Given the description of an element on the screen output the (x, y) to click on. 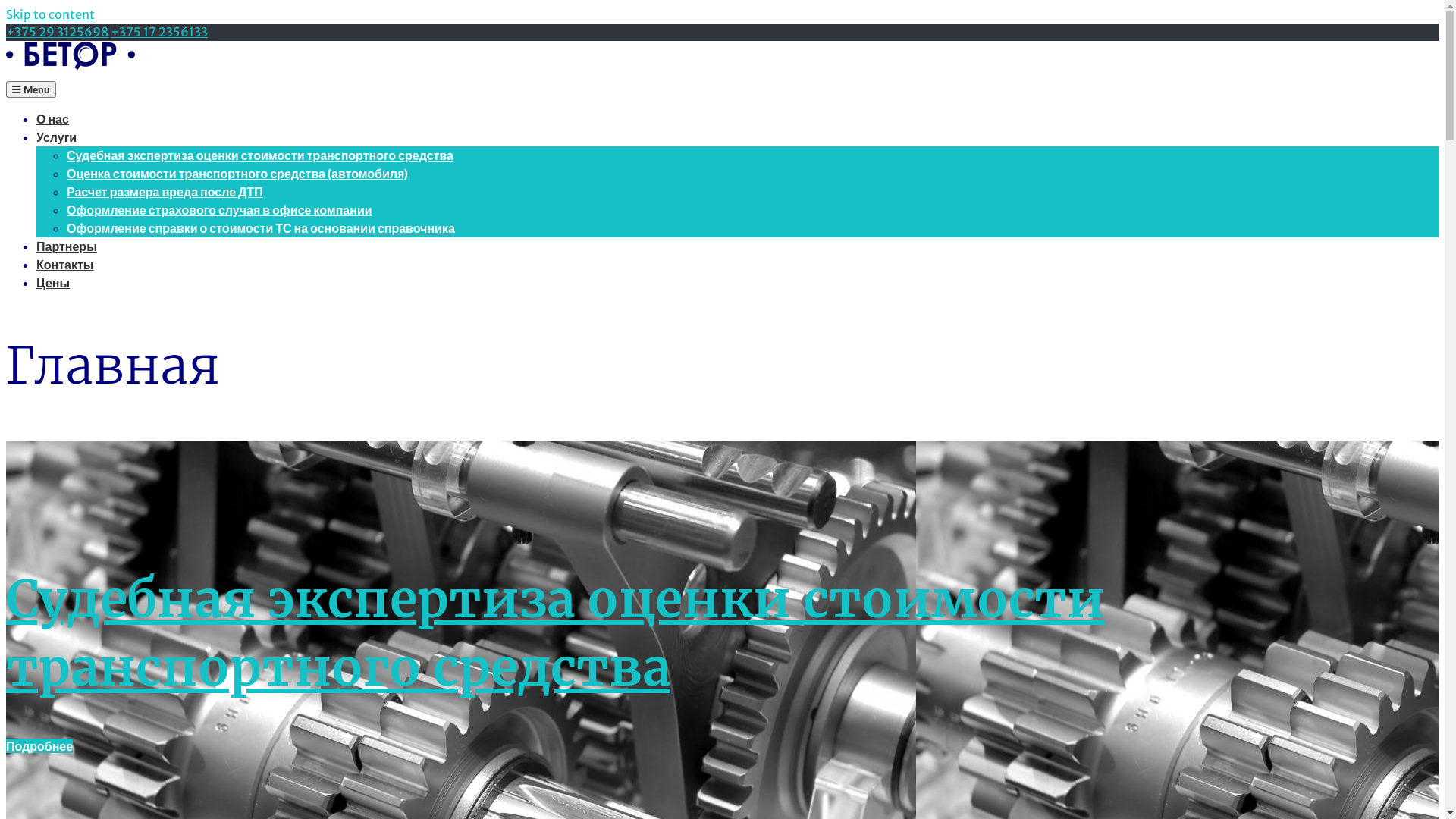
+375 17 2356133 Element type: text (158, 31)
Menu Element type: text (31, 89)
+375 29 3125698 Element type: text (57, 31)
Skip to content Element type: text (50, 13)
